Given the description of an element on the screen output the (x, y) to click on. 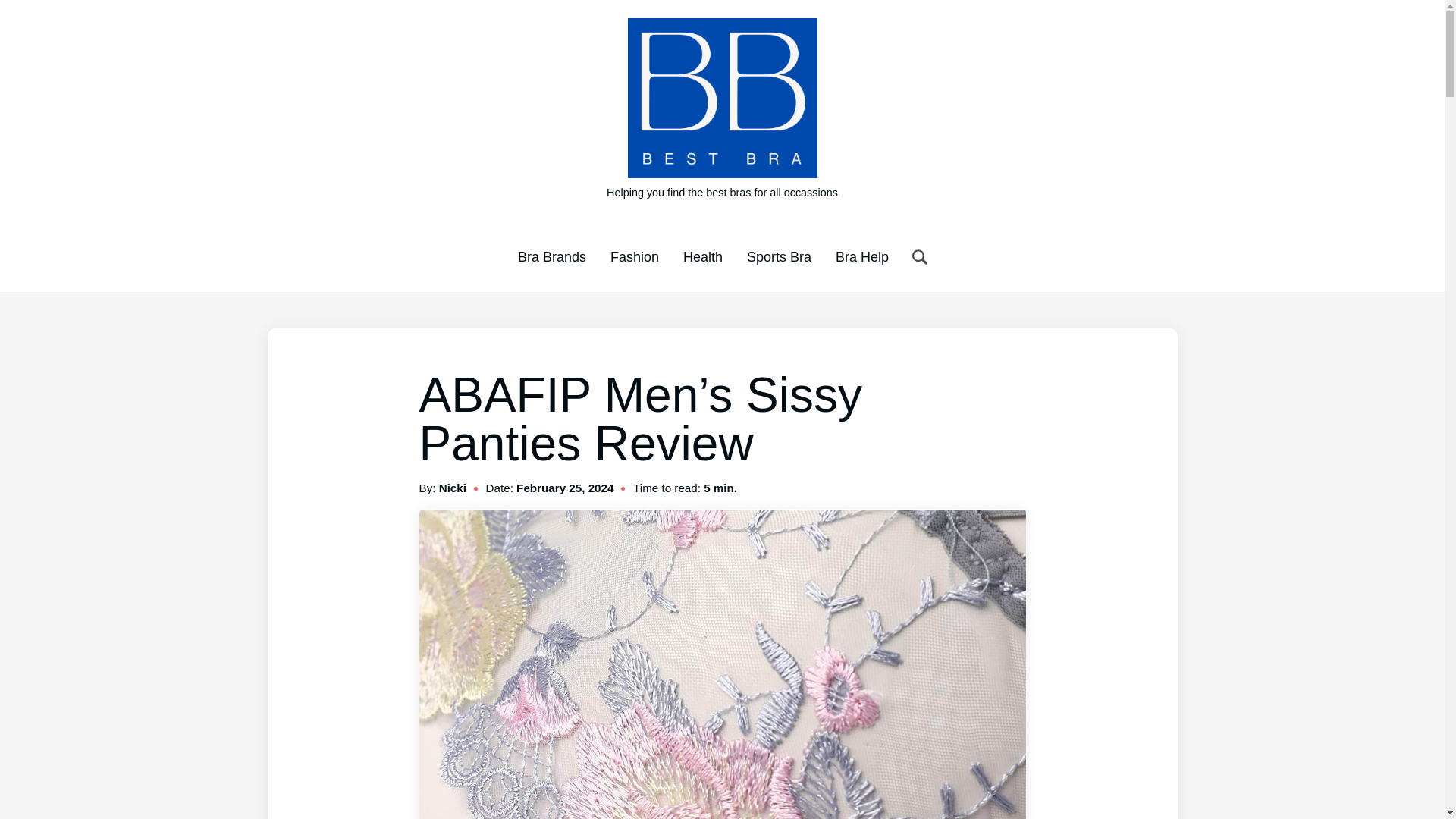
Bra Brands (552, 256)
Health (702, 256)
Fashion (634, 256)
Sports Bra (778, 256)
Bra Help (861, 256)
